Given the description of an element on the screen output the (x, y) to click on. 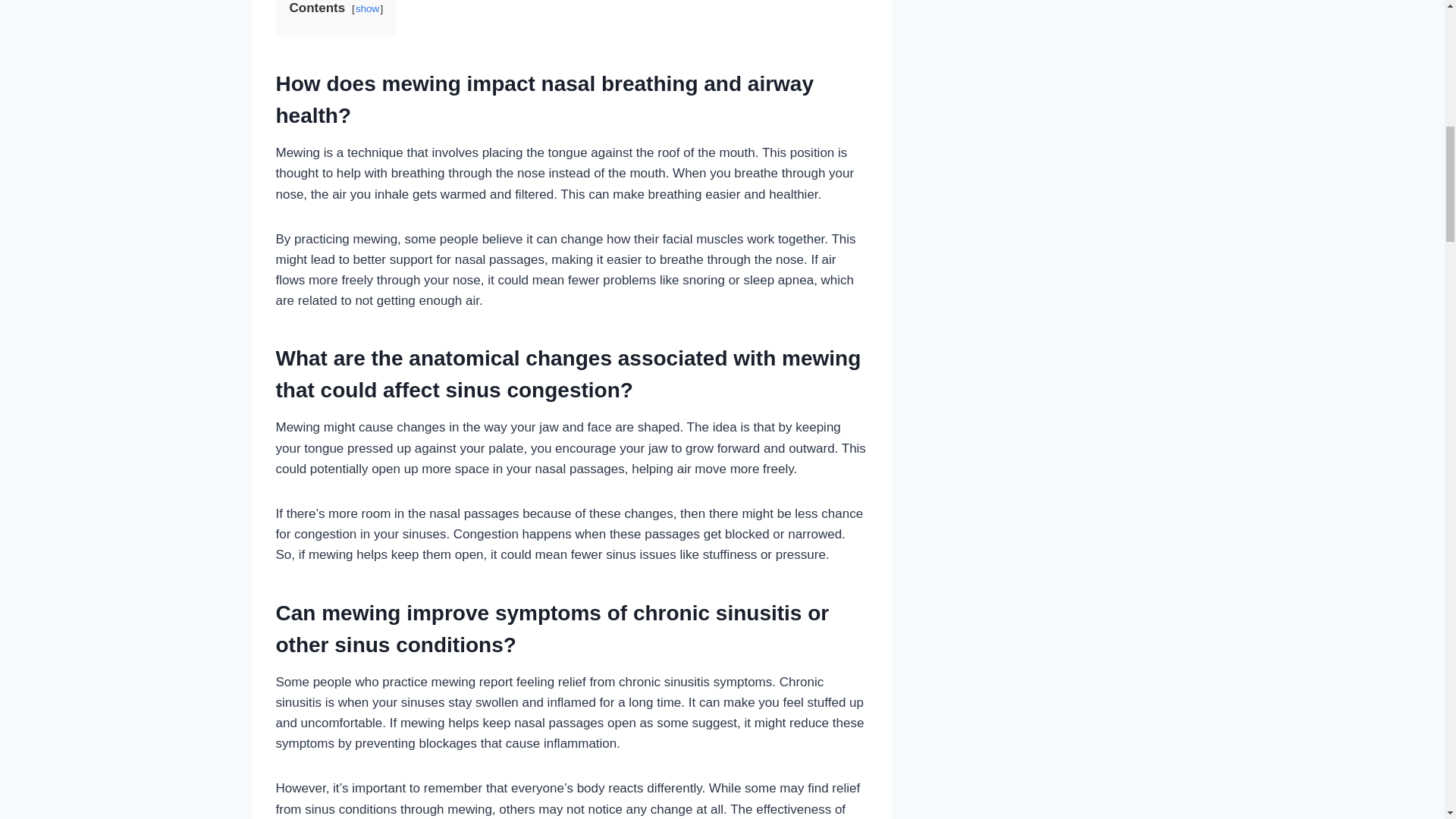
show (367, 8)
